Given the description of an element on the screen output the (x, y) to click on. 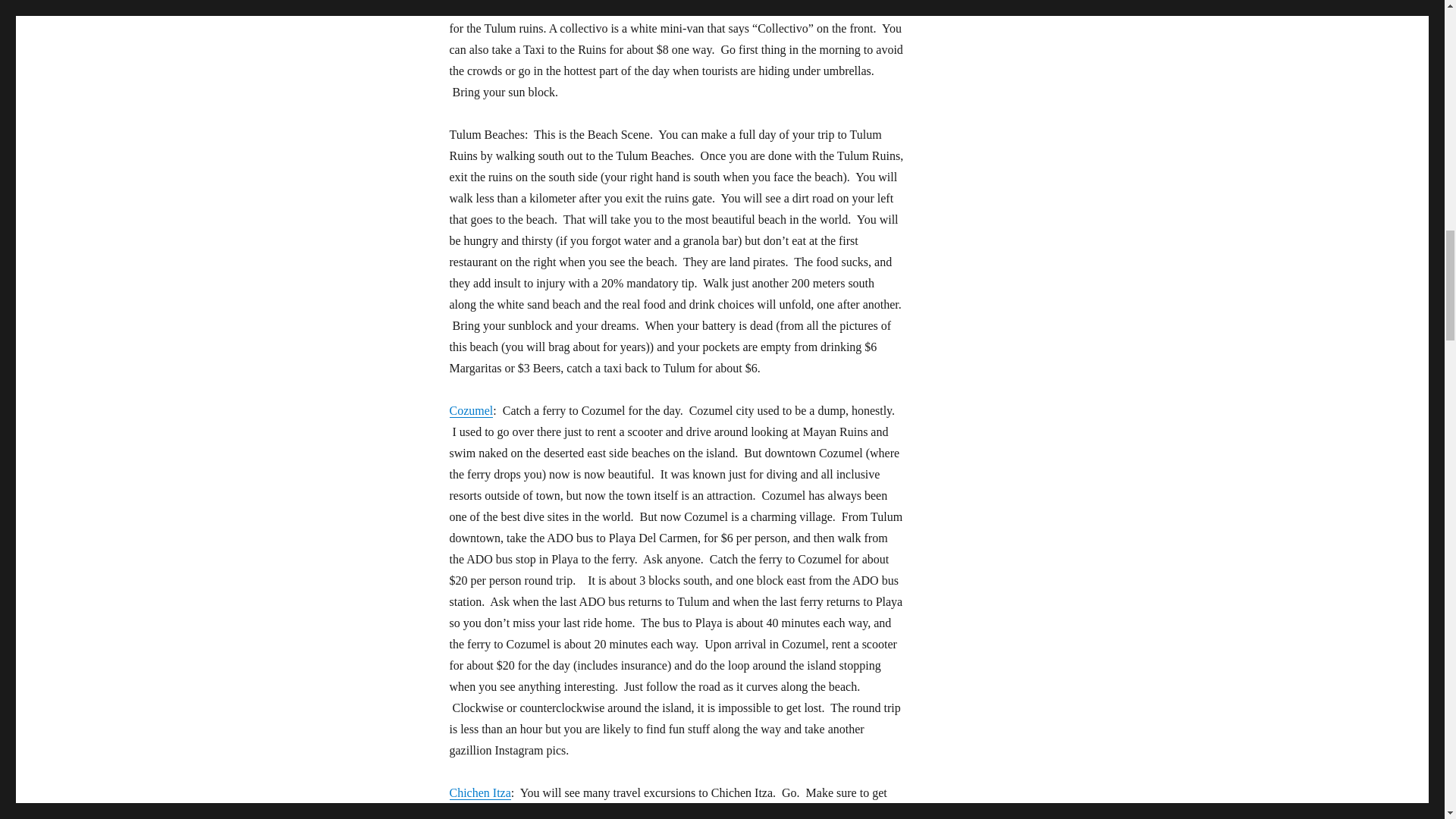
Chichen Itza (479, 792)
Cozumel (470, 410)
